Given the description of an element on the screen output the (x, y) to click on. 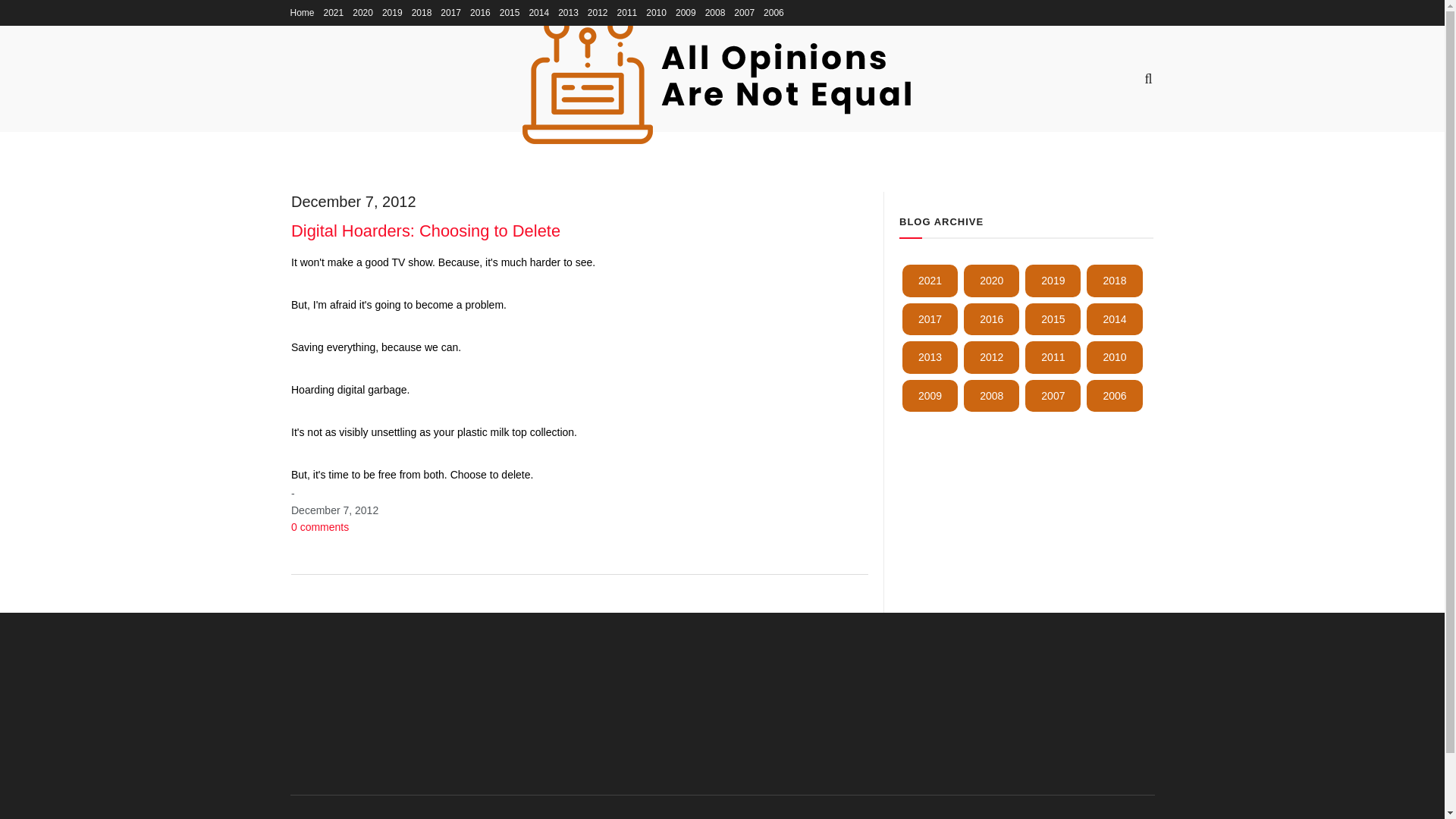
2016 (991, 318)
2020 (991, 280)
2017 (930, 318)
2014 (1113, 318)
2021 (930, 280)
Home (301, 12)
0 comments (320, 526)
2012 (991, 357)
2011 (1052, 357)
2019 (1052, 280)
2018 (1113, 280)
2013 (930, 357)
Digital Hoarders: Choosing to Delete (425, 230)
2015 (1052, 318)
